Given the description of an element on the screen output the (x, y) to click on. 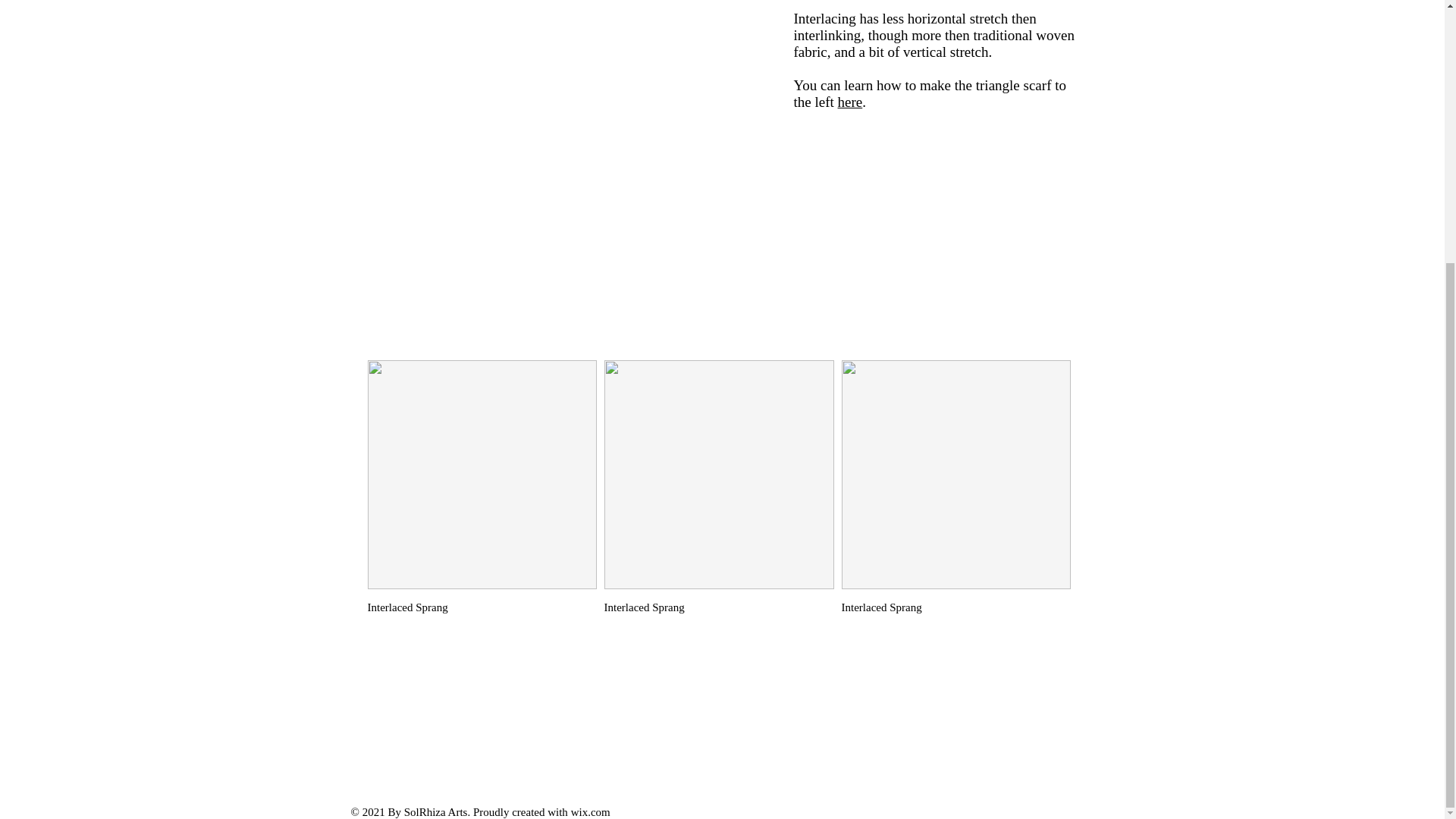
here (850, 101)
wix.com (590, 811)
